Given the description of an element on the screen output the (x, y) to click on. 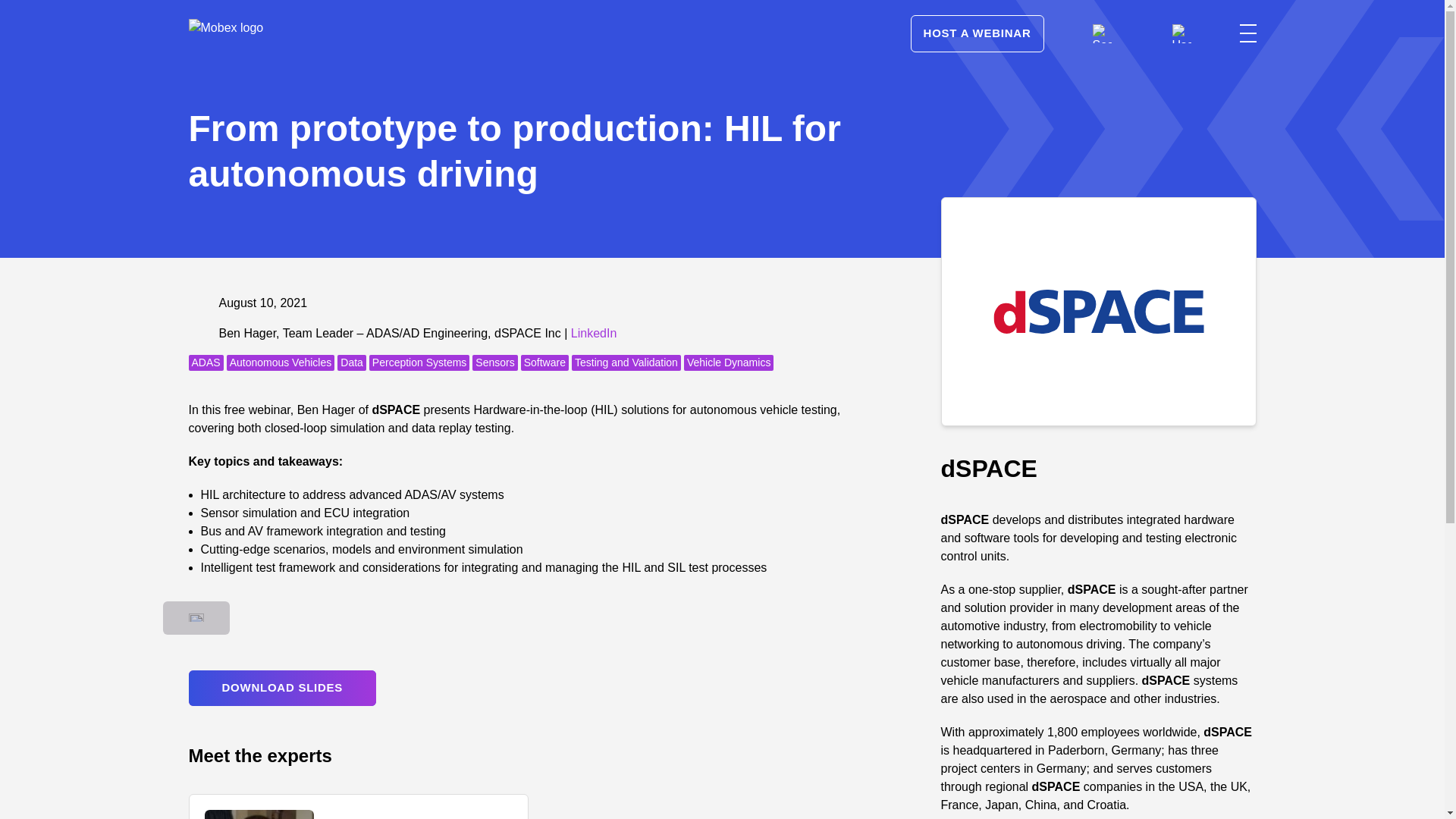
Software (545, 362)
LinkedIn (593, 332)
Autonomous Vehicles (280, 362)
DOWNLOAD SLIDES (281, 687)
Data (351, 362)
Vehicle Dynamics (729, 362)
ADAS (204, 362)
Perception Systems (419, 362)
Sensors (493, 362)
Testing and Validation (626, 362)
